Given the description of an element on the screen output the (x, y) to click on. 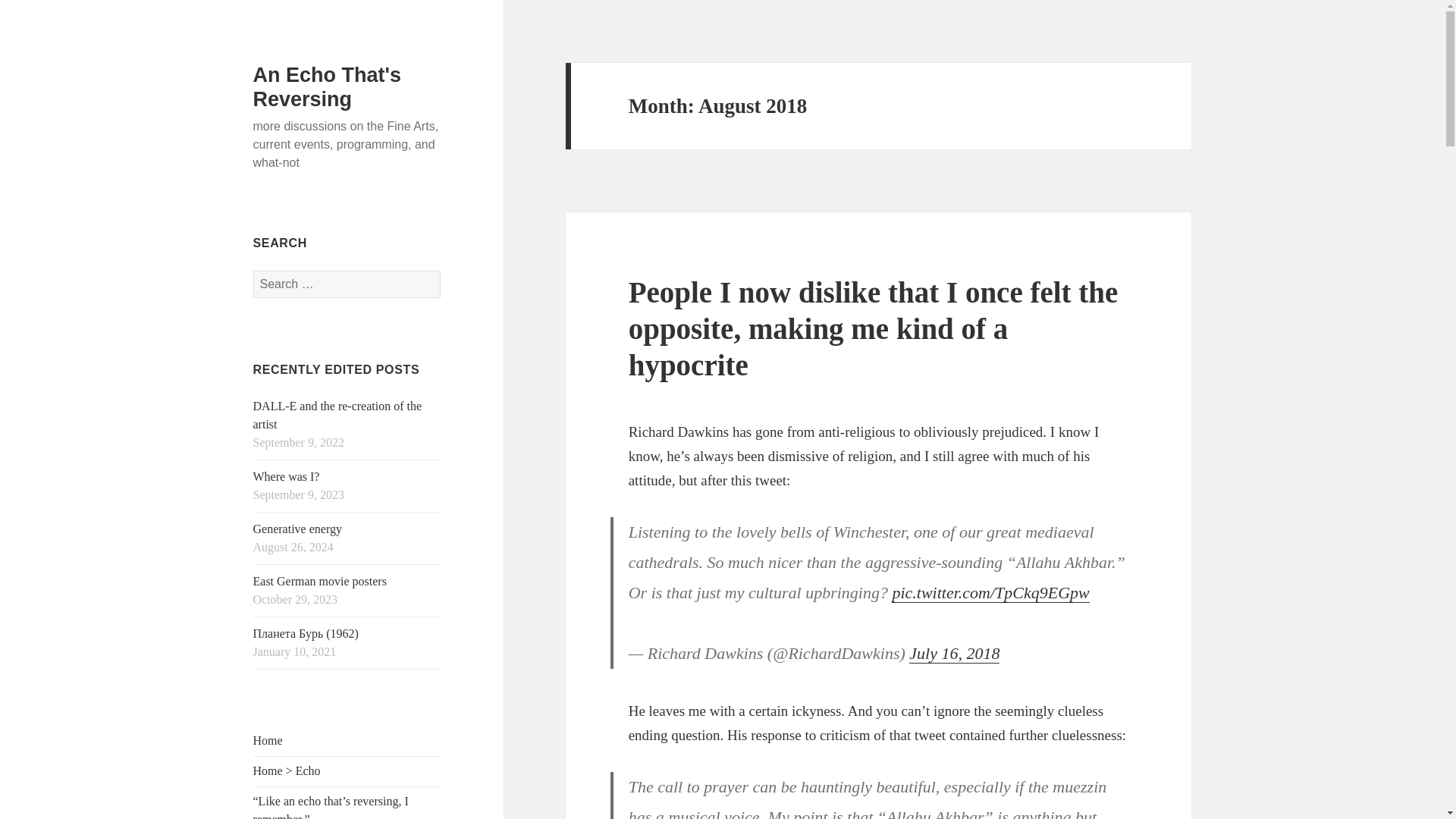
Home (267, 739)
An Echo That's Reversing (327, 86)
Where was I? (286, 476)
East German movie posters (320, 581)
DALL-E and the re-creation of the artist (337, 414)
Generative energy (297, 528)
